Given the description of an element on the screen output the (x, y) to click on. 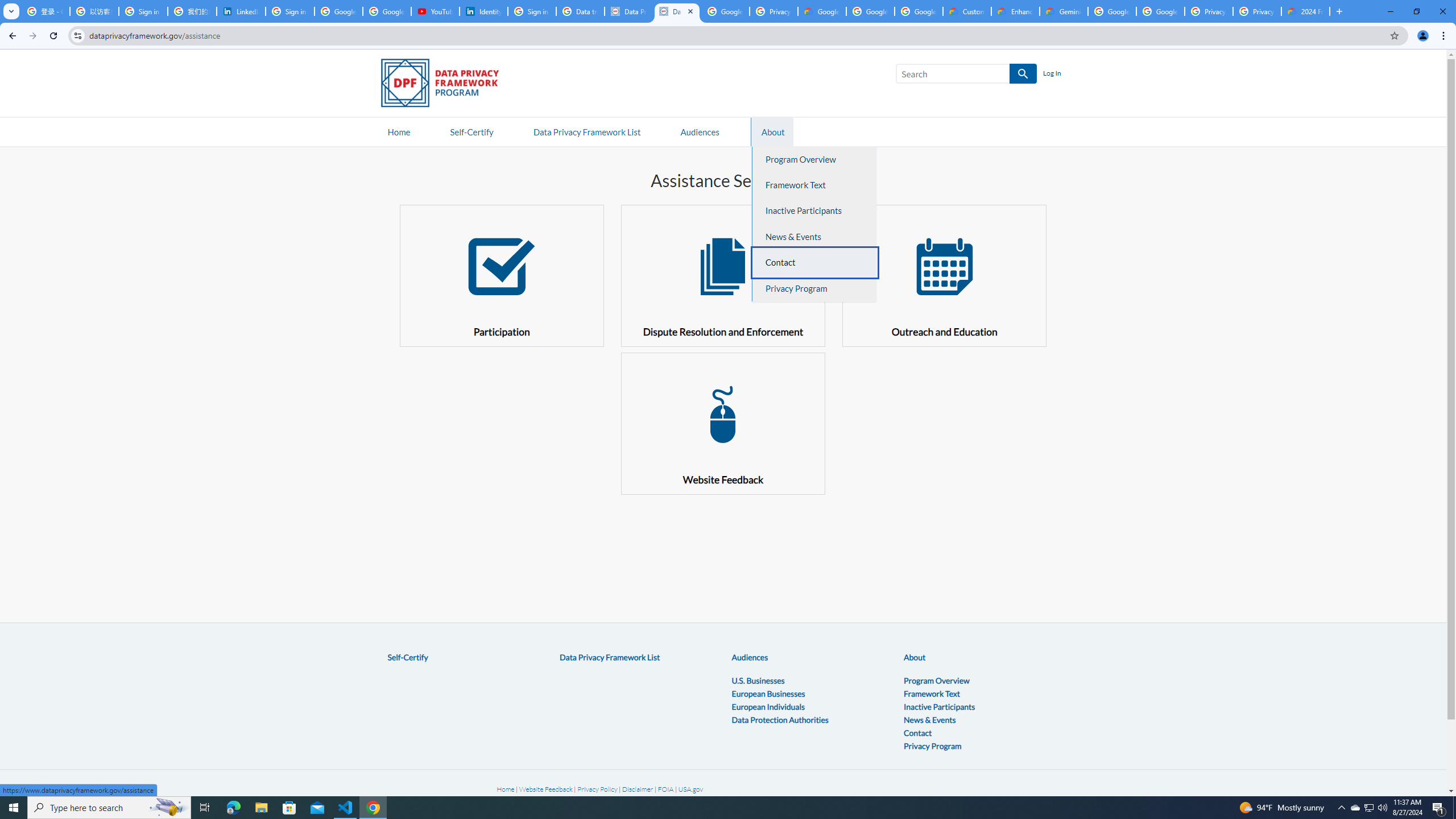
Google Cloud Terms Directory | Google Cloud (822, 11)
 Outreach and Education (944, 275)
U.S. Businesses (757, 679)
USA.gov (690, 788)
News & Events (930, 719)
Audiences (749, 657)
Framework Text (931, 692)
